Given the description of an element on the screen output the (x, y) to click on. 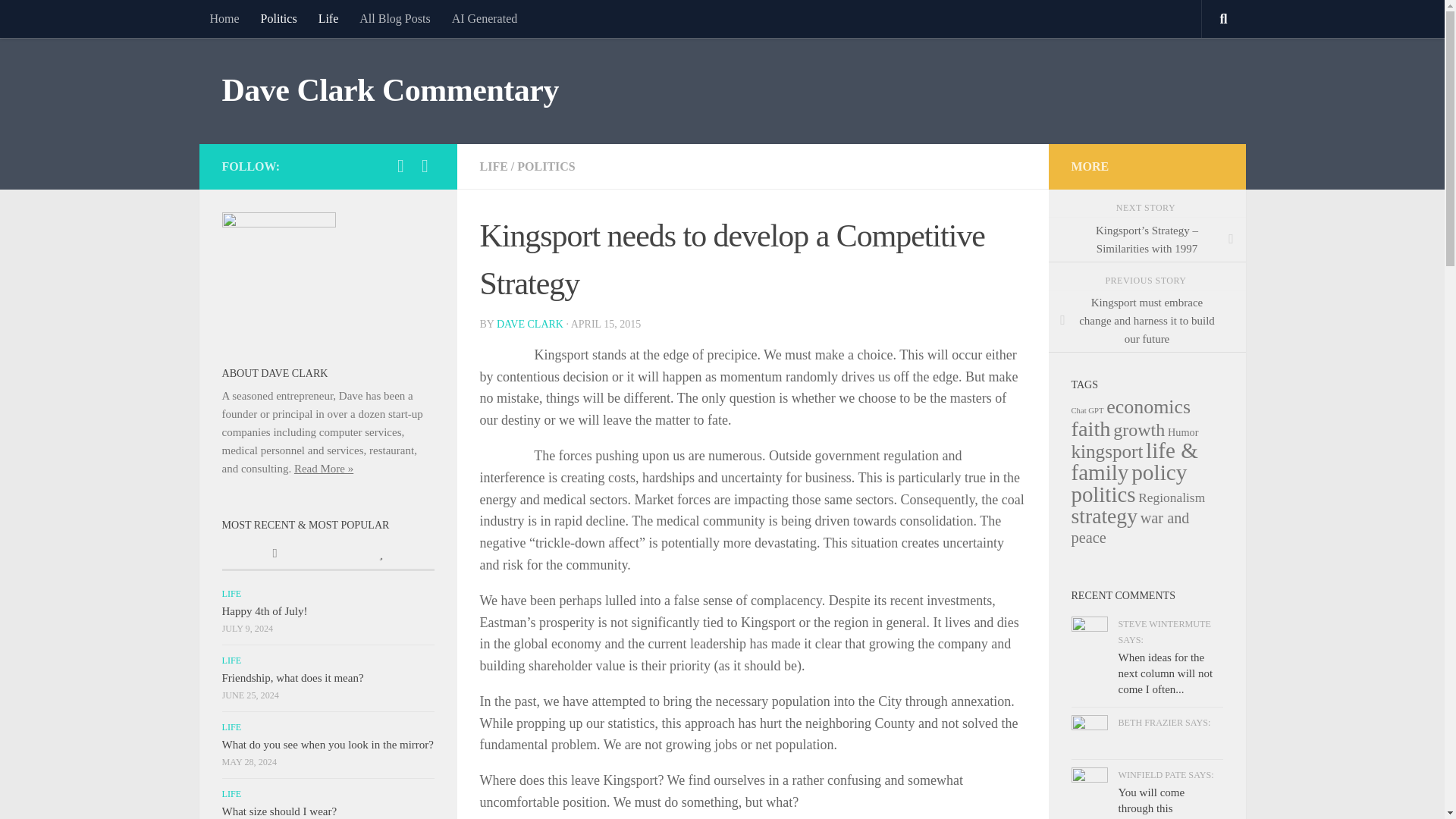
Recent Posts (274, 554)
LIFE (492, 165)
Friendship, what does it mean? (291, 677)
Home (223, 18)
Posts by Dave Clark (529, 324)
AI Generated (484, 18)
Skip to content (59, 20)
Dave Clark Commentary (389, 90)
Follow me on Facebook (400, 166)
LIFE (231, 593)
